Given the description of an element on the screen output the (x, y) to click on. 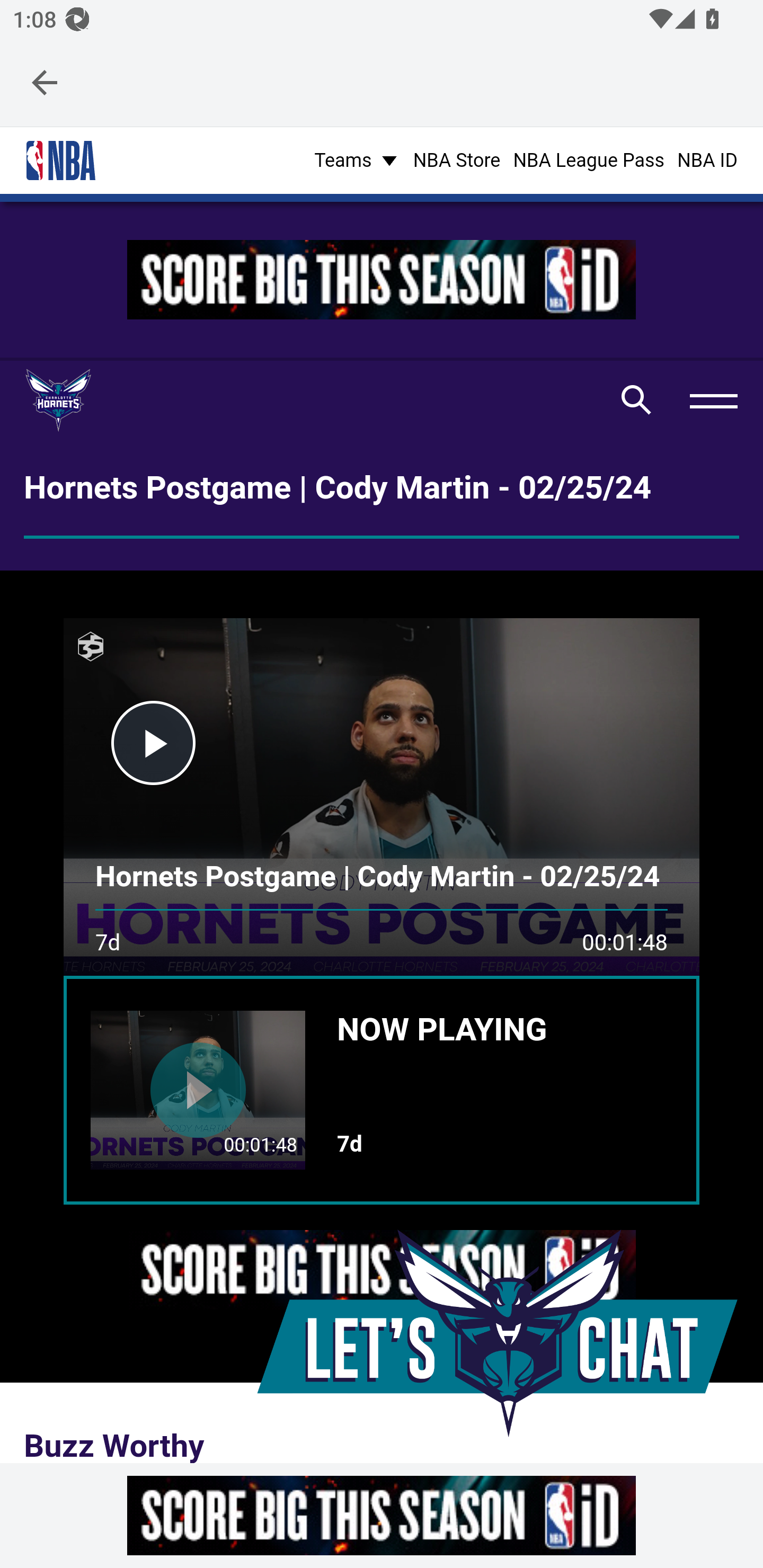
Navigate up (44, 82)
NBA Logo (60, 160)
Toggle Teams (356, 159)
NBA Store NBA Store NBA Store (456, 159)
NBA League Pass NBA League Pass NBA League Pass (588, 159)
NBA ID NBA ID NBA ID (707, 159)
Global Navigation Toggle (713, 399)
search-input-toggle (636, 400)
Unable to play media. (381, 795)
Play Video (153, 742)
Open chat (495, 1332)
